Given the description of an element on the screen output the (x, y) to click on. 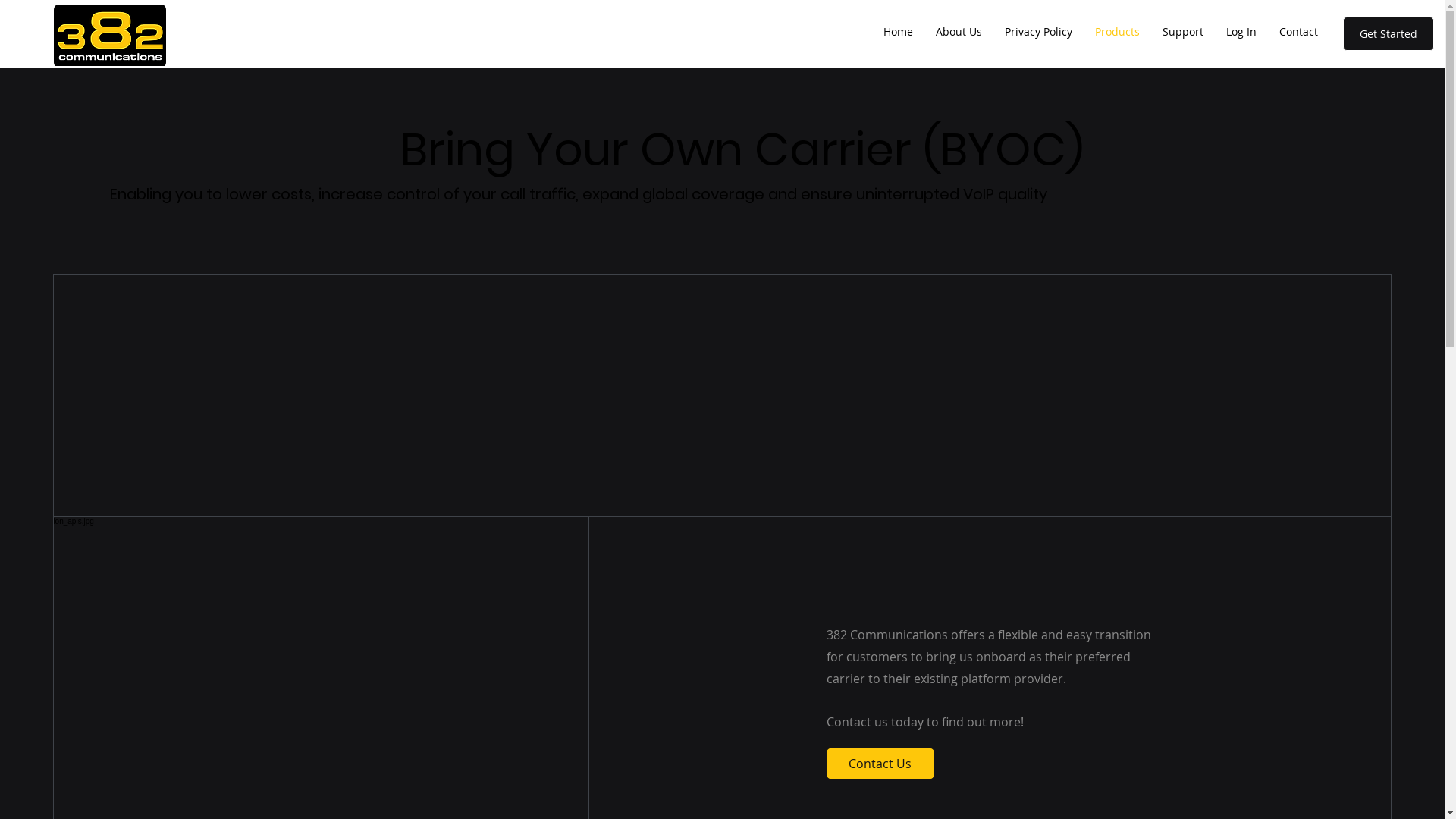
Contact Element type: text (1298, 31)
Products Element type: text (1117, 31)
Privacy Policy Element type: text (1038, 31)
Home Element type: text (898, 31)
About Us Element type: text (958, 31)
Get Started Element type: text (1388, 33)
Support Element type: text (1182, 31)
Contact Us Element type: text (880, 763)
Log In Element type: text (1240, 31)
